Given the description of an element on the screen output the (x, y) to click on. 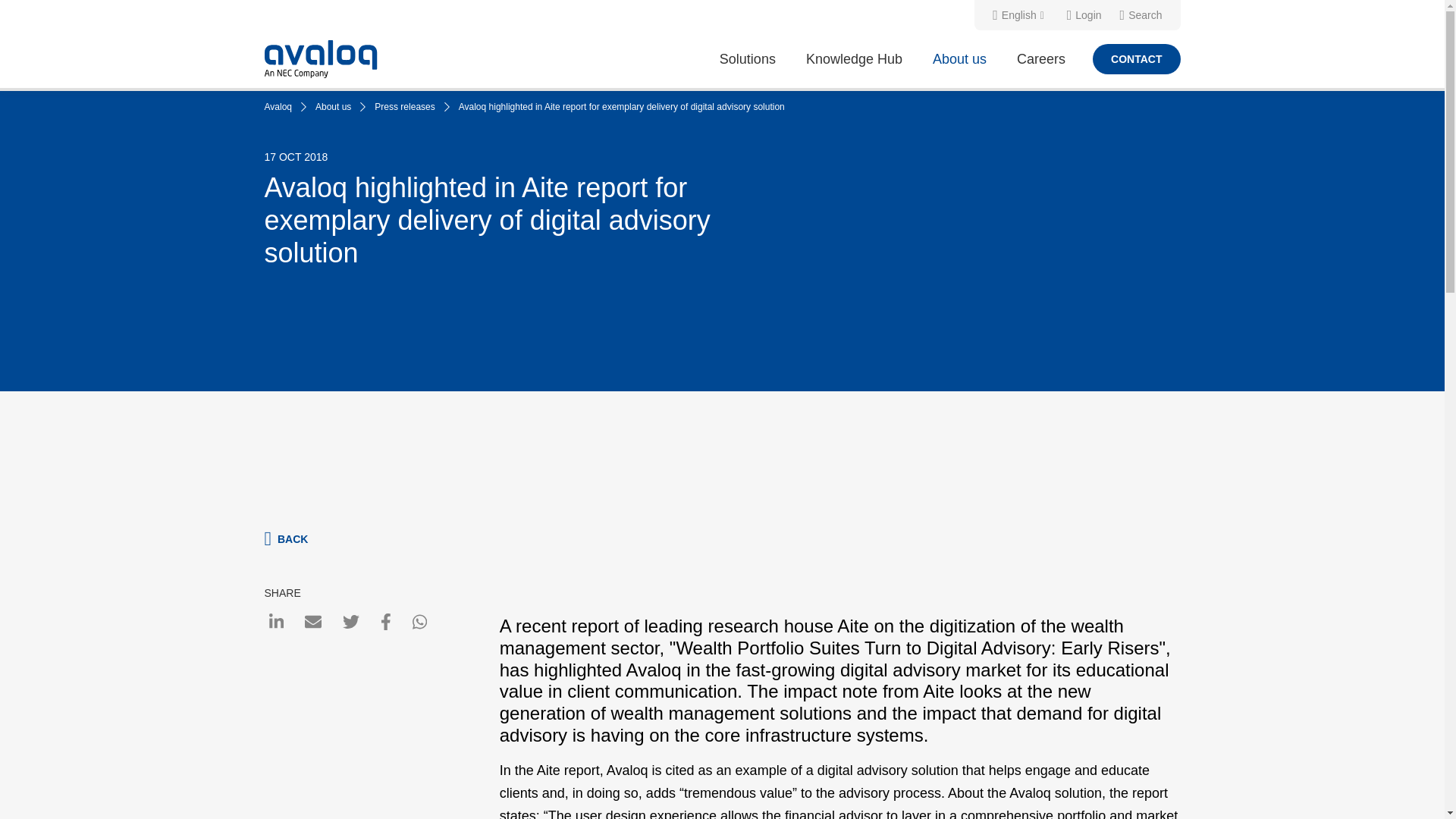
English (1021, 15)
CONTACT (1136, 59)
Search (1141, 15)
Press releases (409, 106)
Careers (1040, 58)
Login (1084, 15)
About us (959, 58)
About us (337, 106)
Solutions (747, 58)
Avaloq (281, 106)
